Given the description of an element on the screen output the (x, y) to click on. 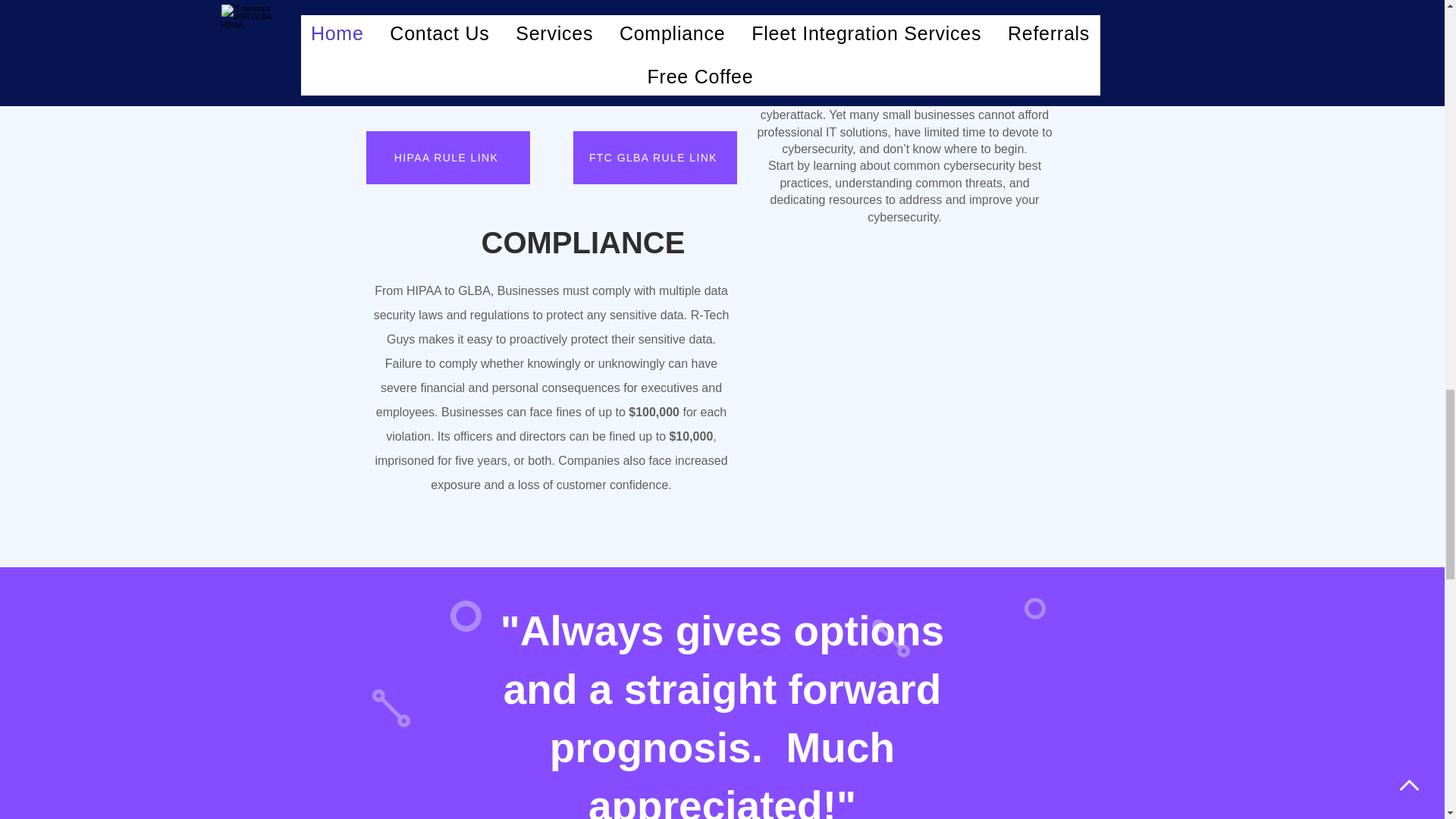
HIPAA RULE LINK (447, 157)
FTC GLBA RULE LINK (654, 157)
